Given the description of an element on the screen output the (x, y) to click on. 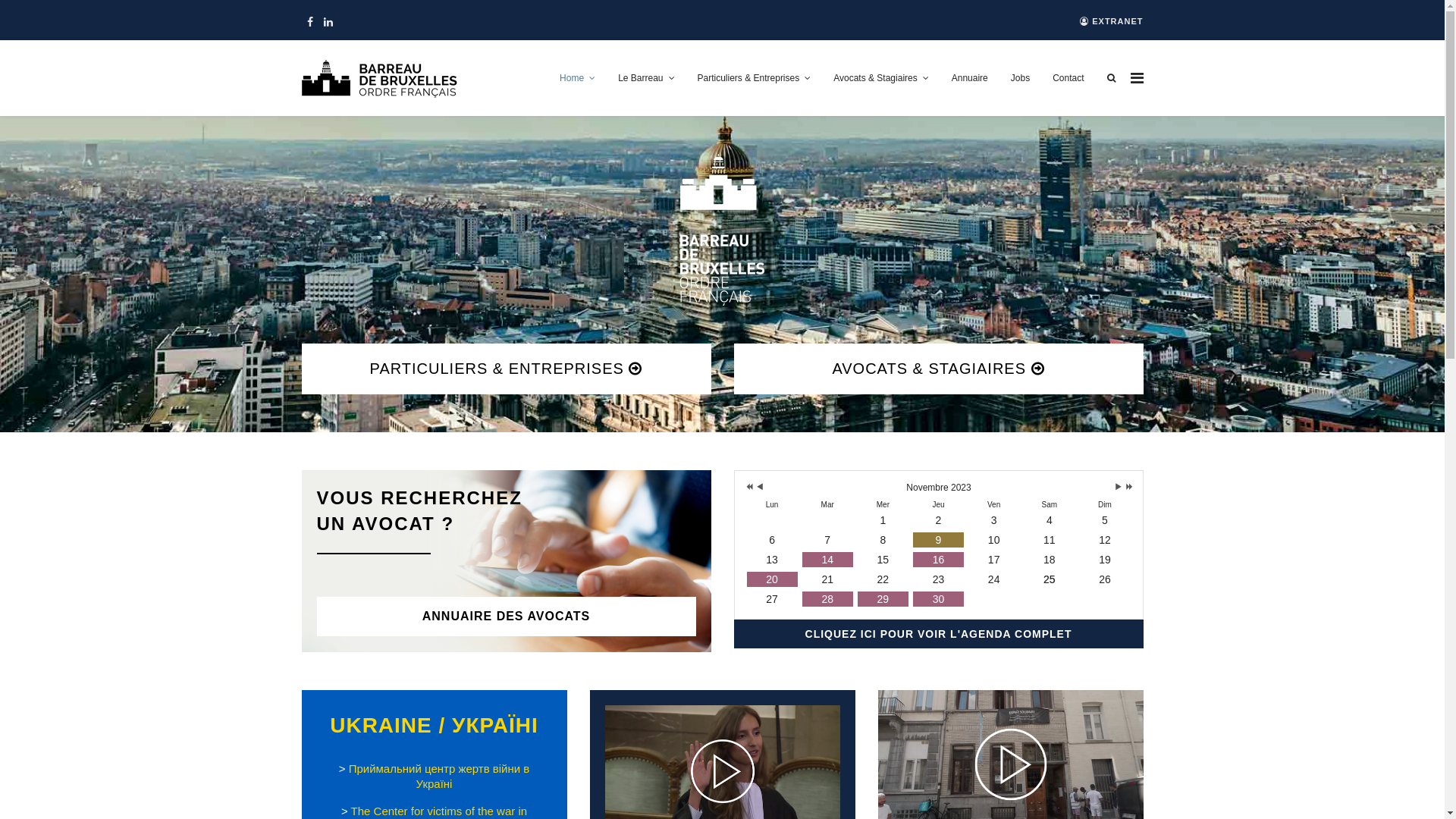
20 Element type: text (771, 578)
AVOCATS & STAGIAIRES Element type: text (938, 368)
Jobs Element type: text (1020, 78)
Annuaire Element type: text (969, 78)
Navigation Element type: hover (1135, 77)
28 Element type: text (827, 598)
CLIQUEZ ICI POUR VOIR L'AGENDA COMPLET Element type: text (938, 633)
9 Element type: text (938, 539)
Contact Element type: text (1068, 78)
ANNUAIRE DES AVOCATS Element type: text (506, 617)
Mois suivant Element type: text (1117, 487)
14 Element type: text (827, 559)
Avocats & Stagiaires Element type: text (881, 78)
Le Barreau Element type: text (645, 78)
29 Element type: text (882, 598)
PARTICULIERS & ENTREPRISES Element type: text (506, 368)
16 Element type: text (938, 559)
Particuliers & Entreprises Element type: text (753, 78)
EXTRANET Element type: text (1110, 21)
Home Element type: text (577, 78)
30 Element type: text (938, 598)
